Given the description of an element on the screen output the (x, y) to click on. 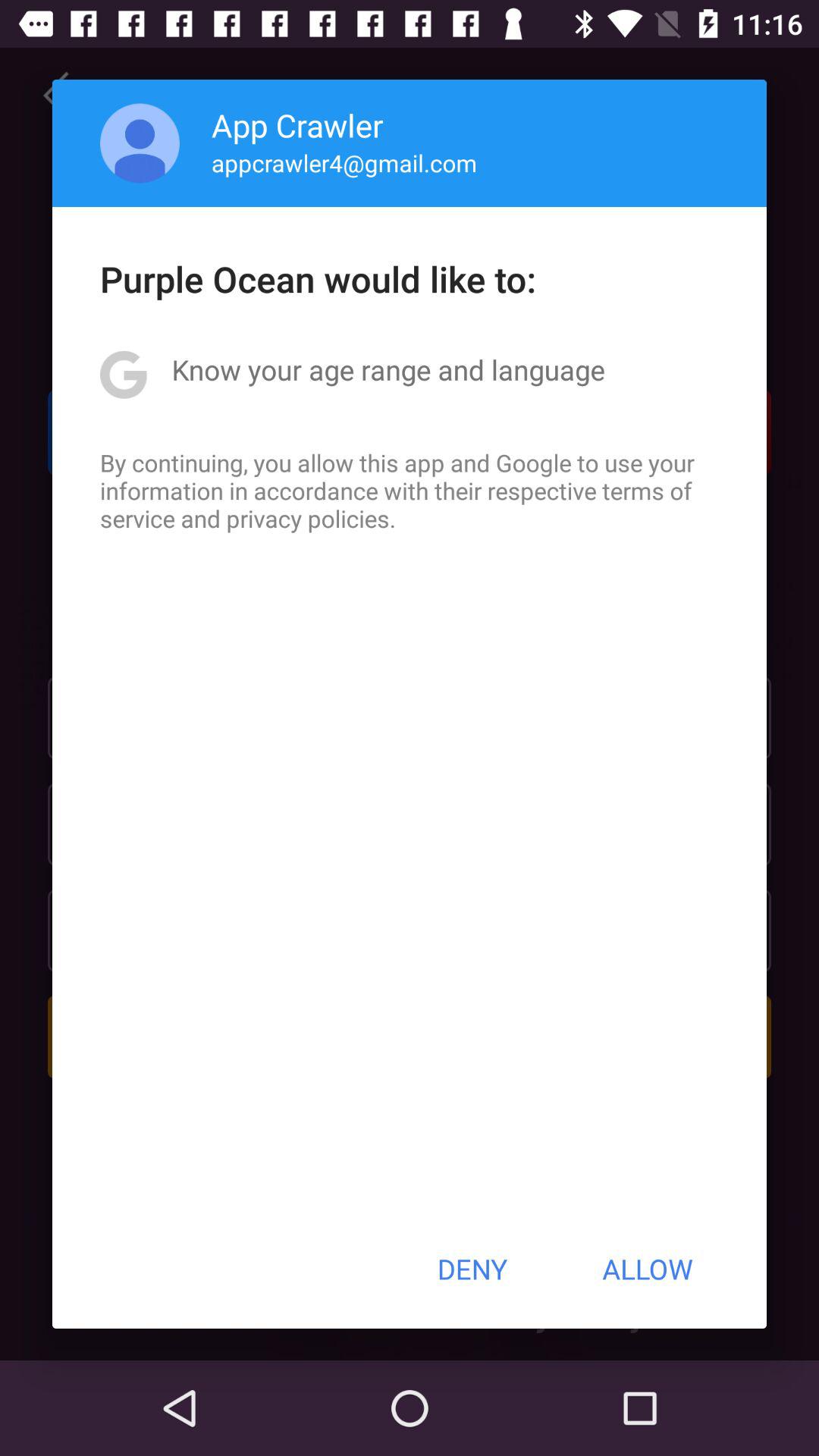
flip until know your age icon (388, 369)
